Given the description of an element on the screen output the (x, y) to click on. 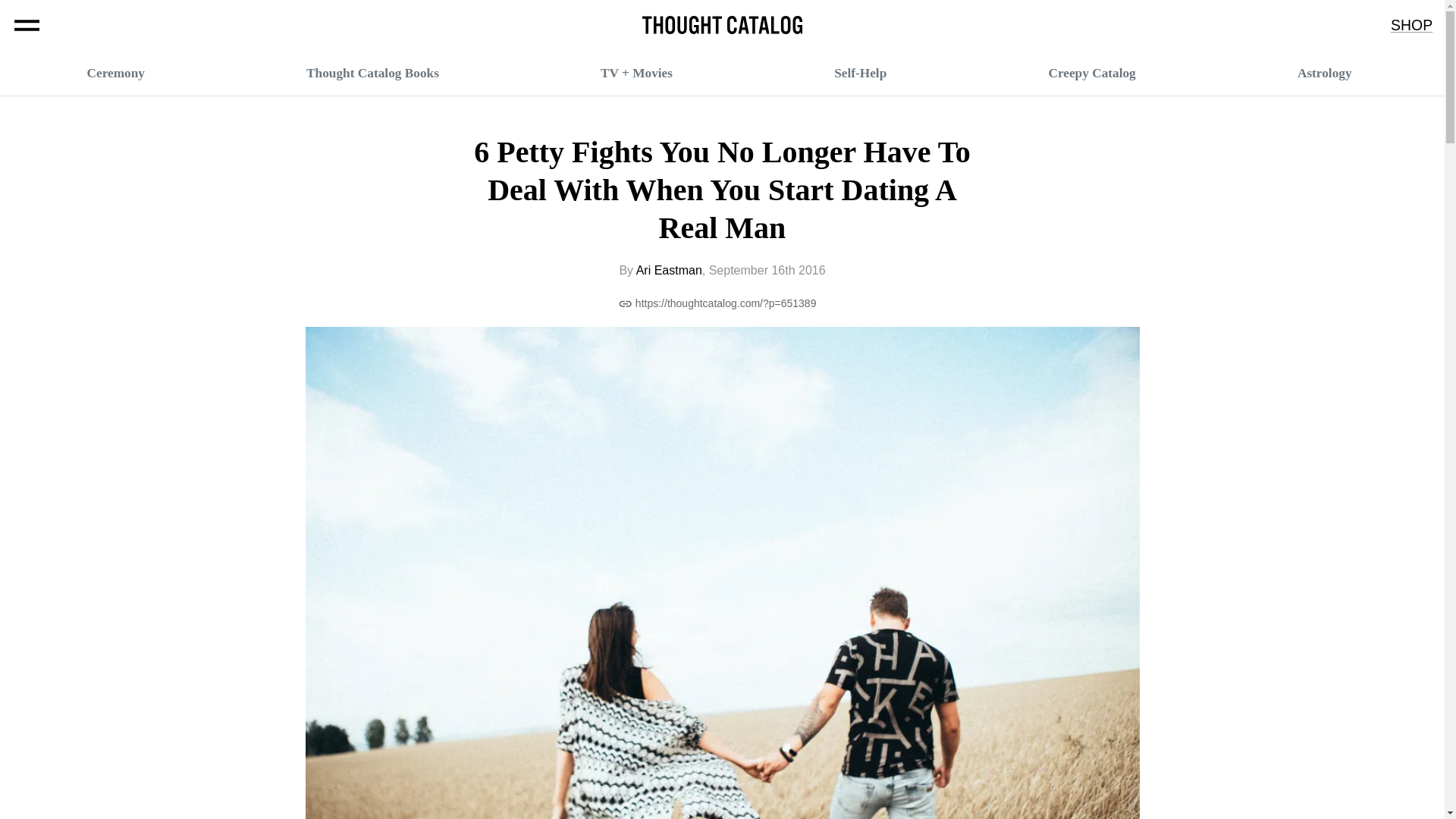
Thought Catalog Books (372, 73)
Self-Help (860, 73)
Ari Eastman (668, 269)
Short link to article (716, 303)
SHOP (1411, 25)
More by Ari Eastman (668, 269)
Ceremony (114, 73)
Astrology (1324, 73)
Creepy Catalog (1091, 73)
